Given the description of an element on the screen output the (x, y) to click on. 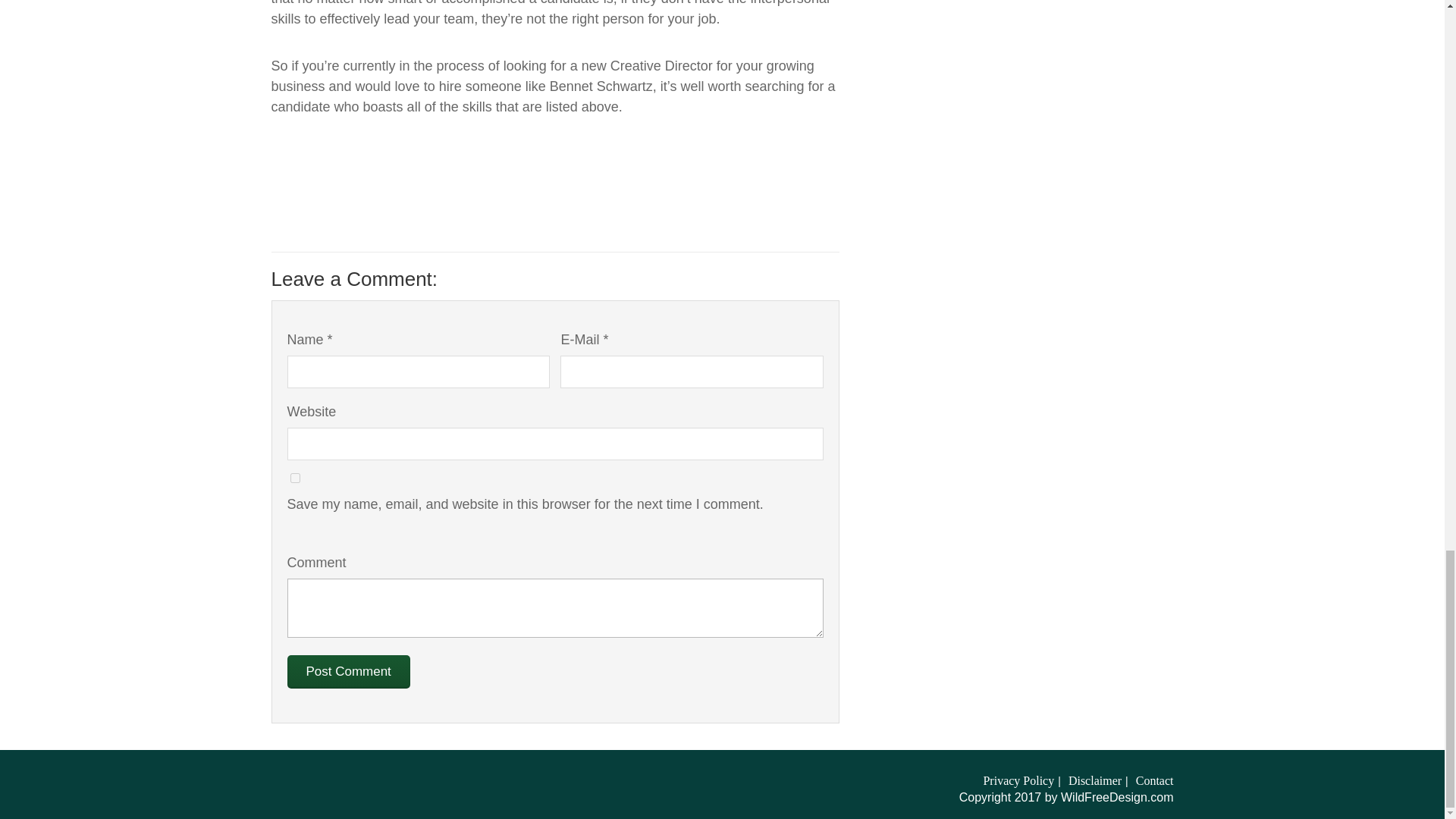
Post Comment (347, 671)
Post Comment (347, 671)
Disclaimer (1094, 780)
yes (294, 478)
Contact (1154, 780)
Privacy Policy (1018, 780)
